Given the description of an element on the screen output the (x, y) to click on. 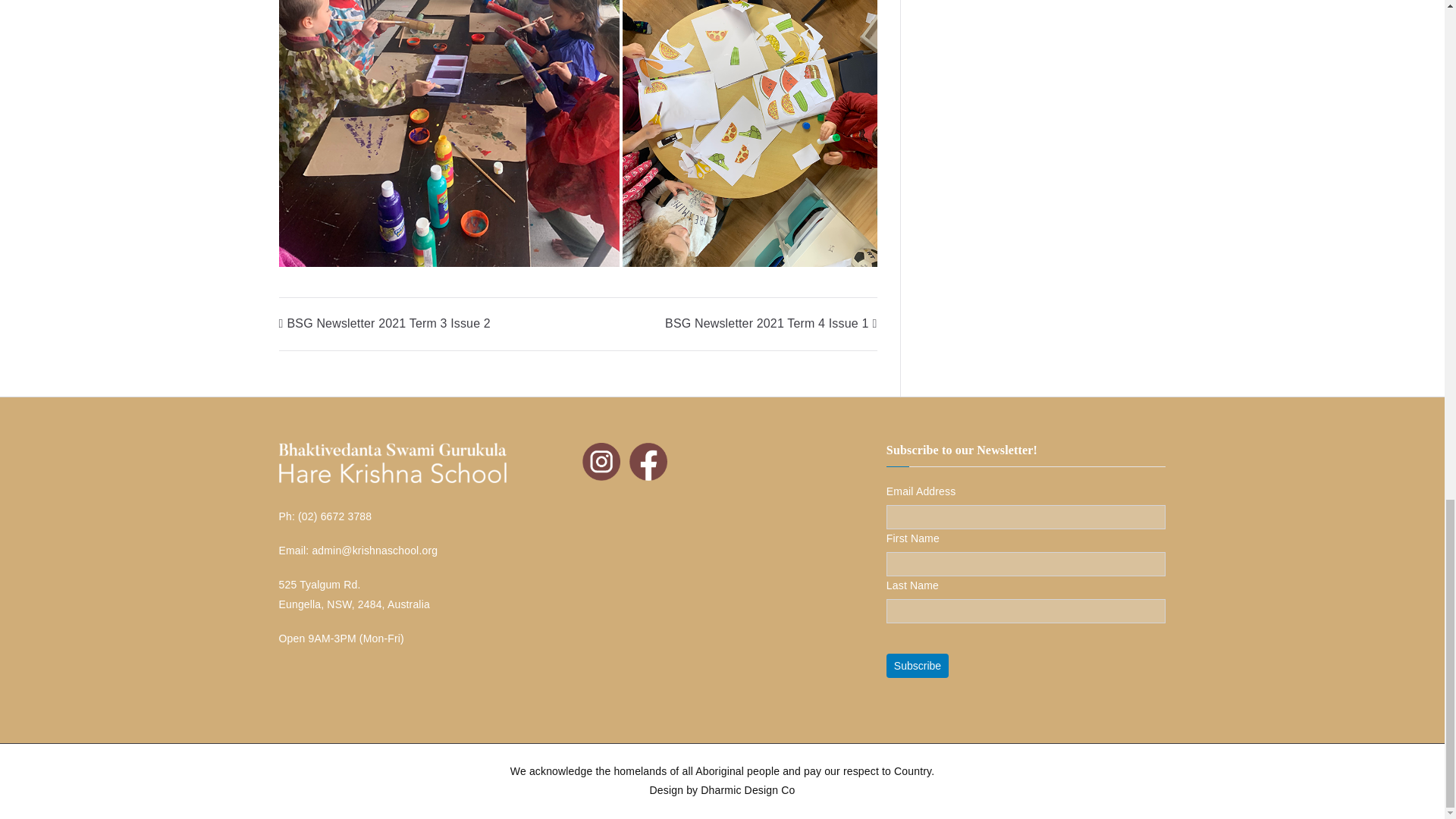
Subscribe (917, 665)
